Given the description of an element on the screen output the (x, y) to click on. 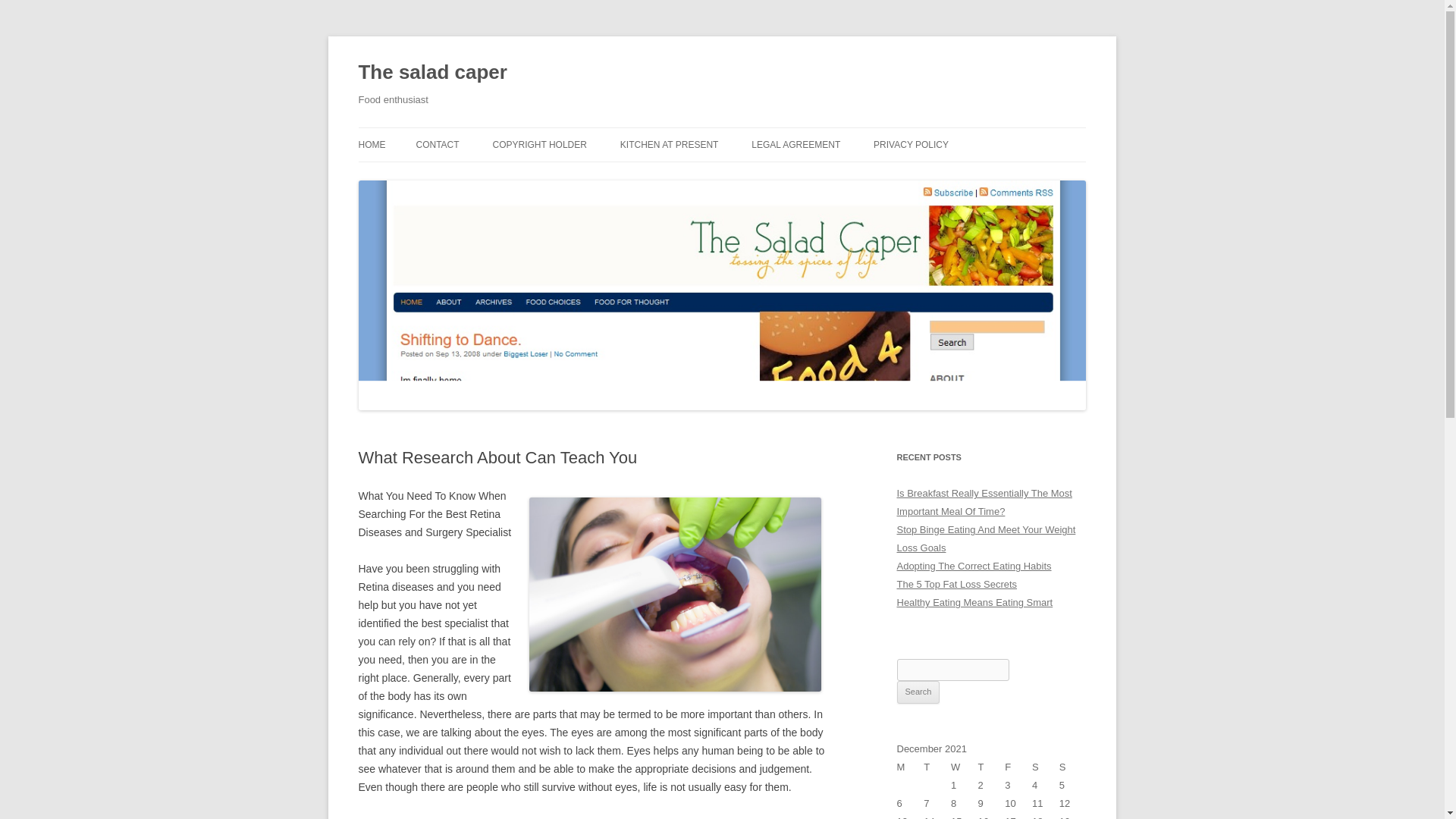
Monday (909, 767)
PRIVACY POLICY (911, 144)
COPYRIGHT HOLDER (539, 144)
Thursday (992, 767)
Search (917, 691)
KITCHEN AT PRESENT (669, 144)
Healthy Eating Means Eating Smart (974, 602)
Friday (1018, 767)
CONTACT (436, 144)
